Given the description of an element on the screen output the (x, y) to click on. 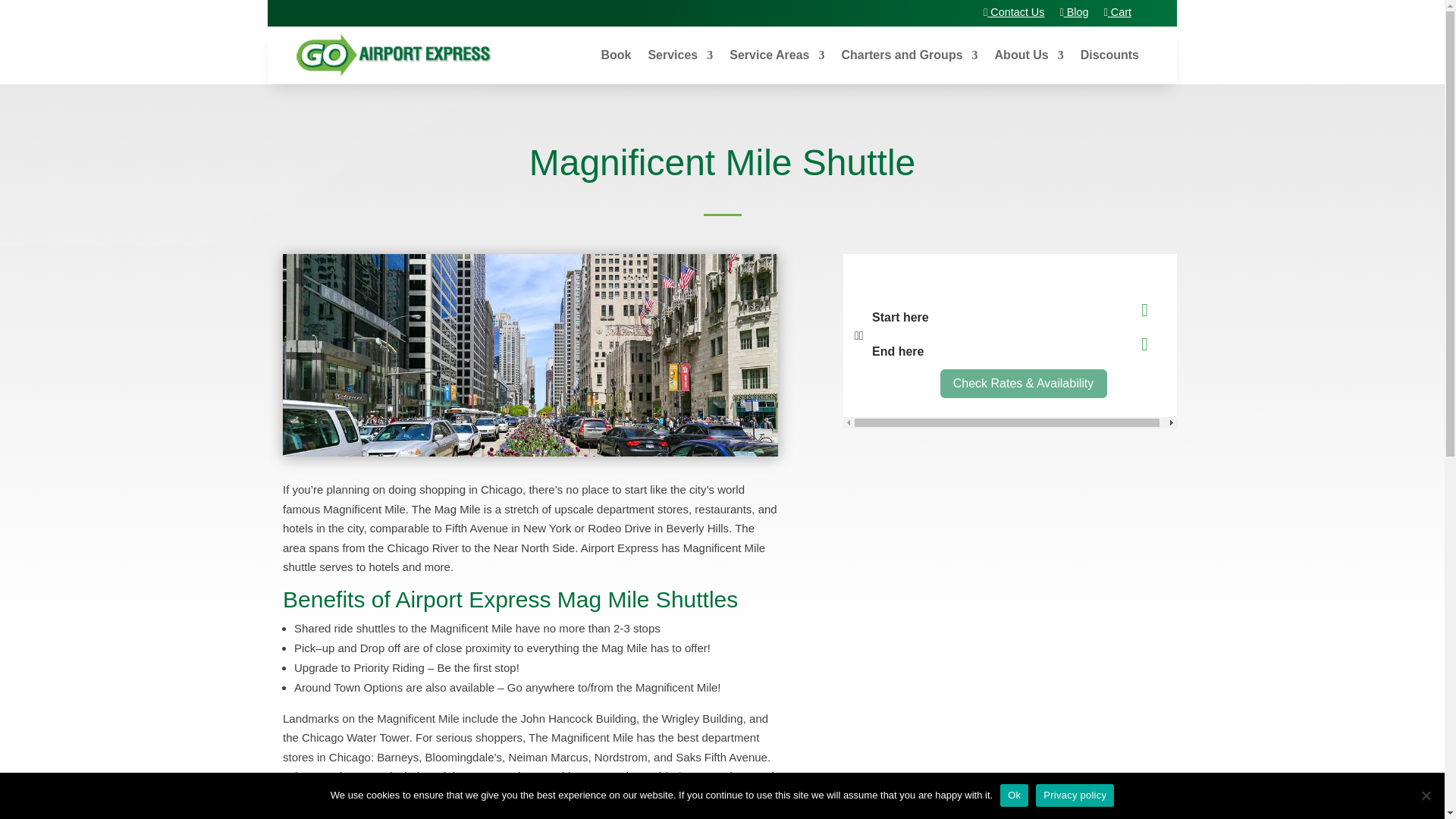
Cart (1117, 11)
Blog (1073, 11)
GO Airport Express Service Areas (776, 55)
Chicago Transportation Services (680, 55)
Discounts (1109, 55)
Services (680, 55)
Service Areas (776, 55)
Contact Us (1013, 11)
About Us (1029, 55)
Charters and Groups (909, 55)
